Given the description of an element on the screen output the (x, y) to click on. 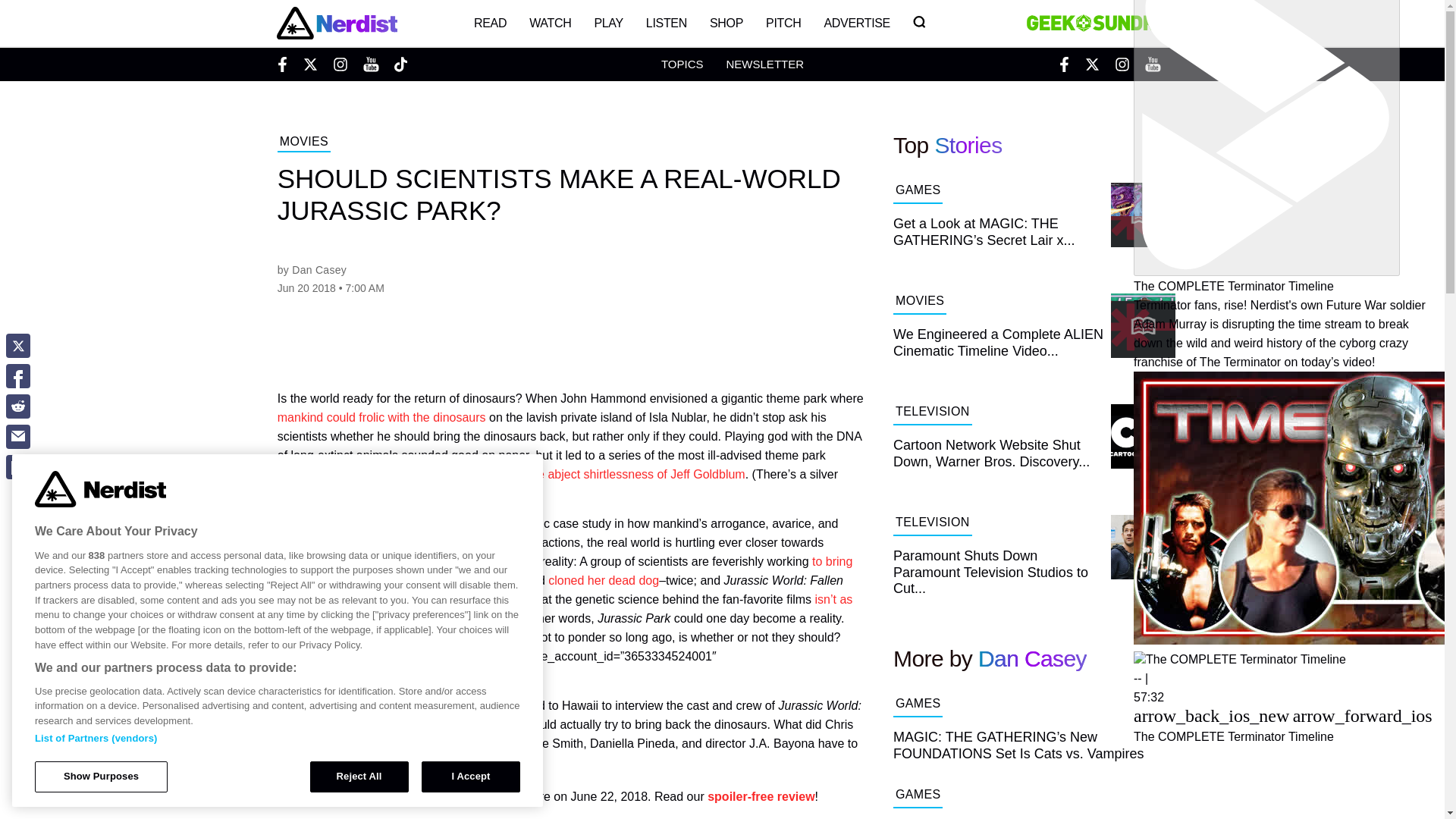
SHOP (726, 22)
Topics (681, 63)
PITCH (783, 22)
READ (490, 22)
spoiler-free review (760, 796)
TOPICS (681, 63)
to bring the wooly mammoth back to life (565, 571)
READ (490, 22)
WATCH (550, 22)
WATCH (550, 22)
